Given the description of an element on the screen output the (x, y) to click on. 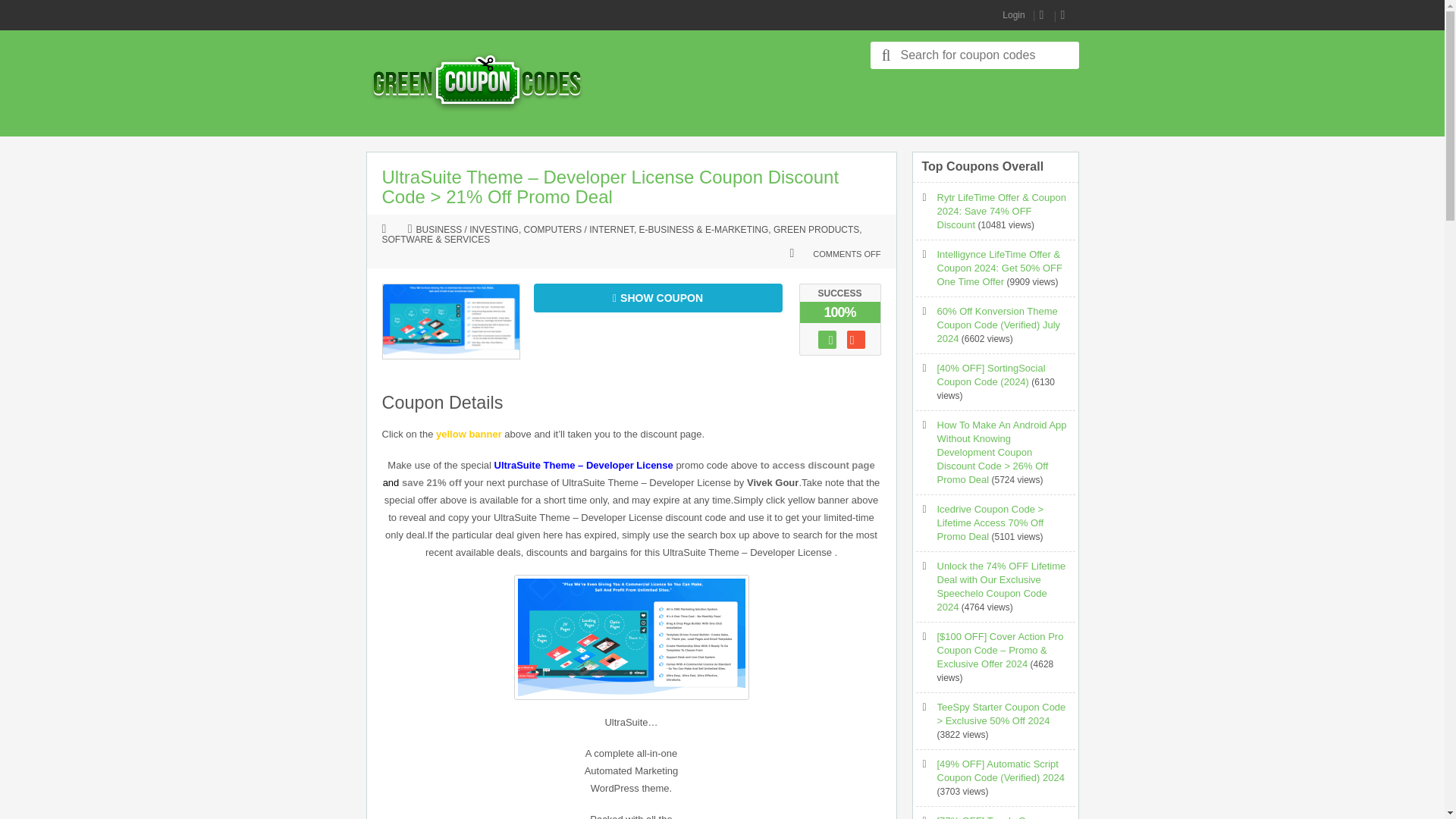
Login (1014, 14)
SHOW COUPON (658, 297)
GREEN PRODUCTS (816, 230)
